Given the description of an element on the screen output the (x, y) to click on. 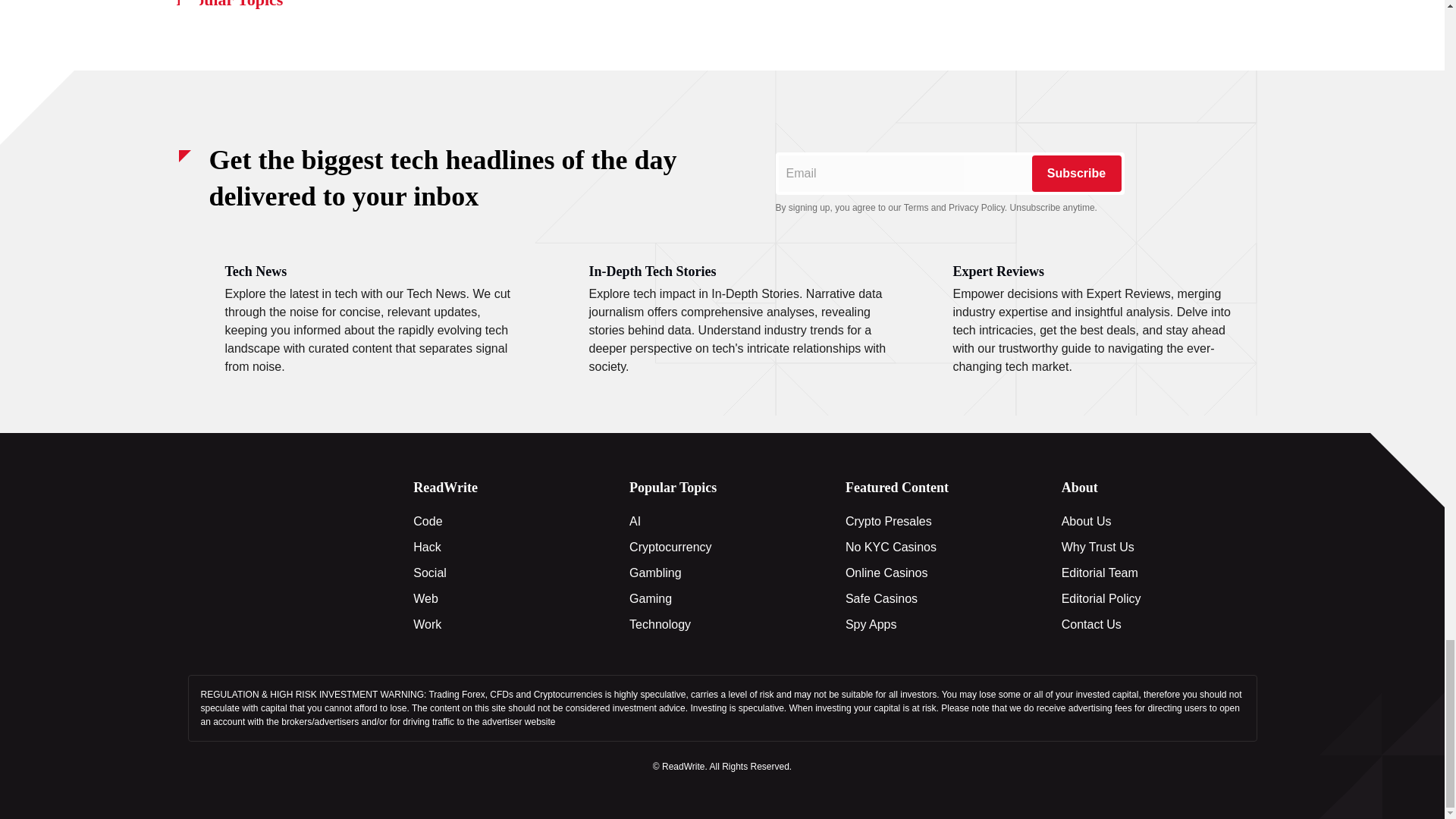
Subscribe (1075, 173)
